Given the description of an element on the screen output the (x, y) to click on. 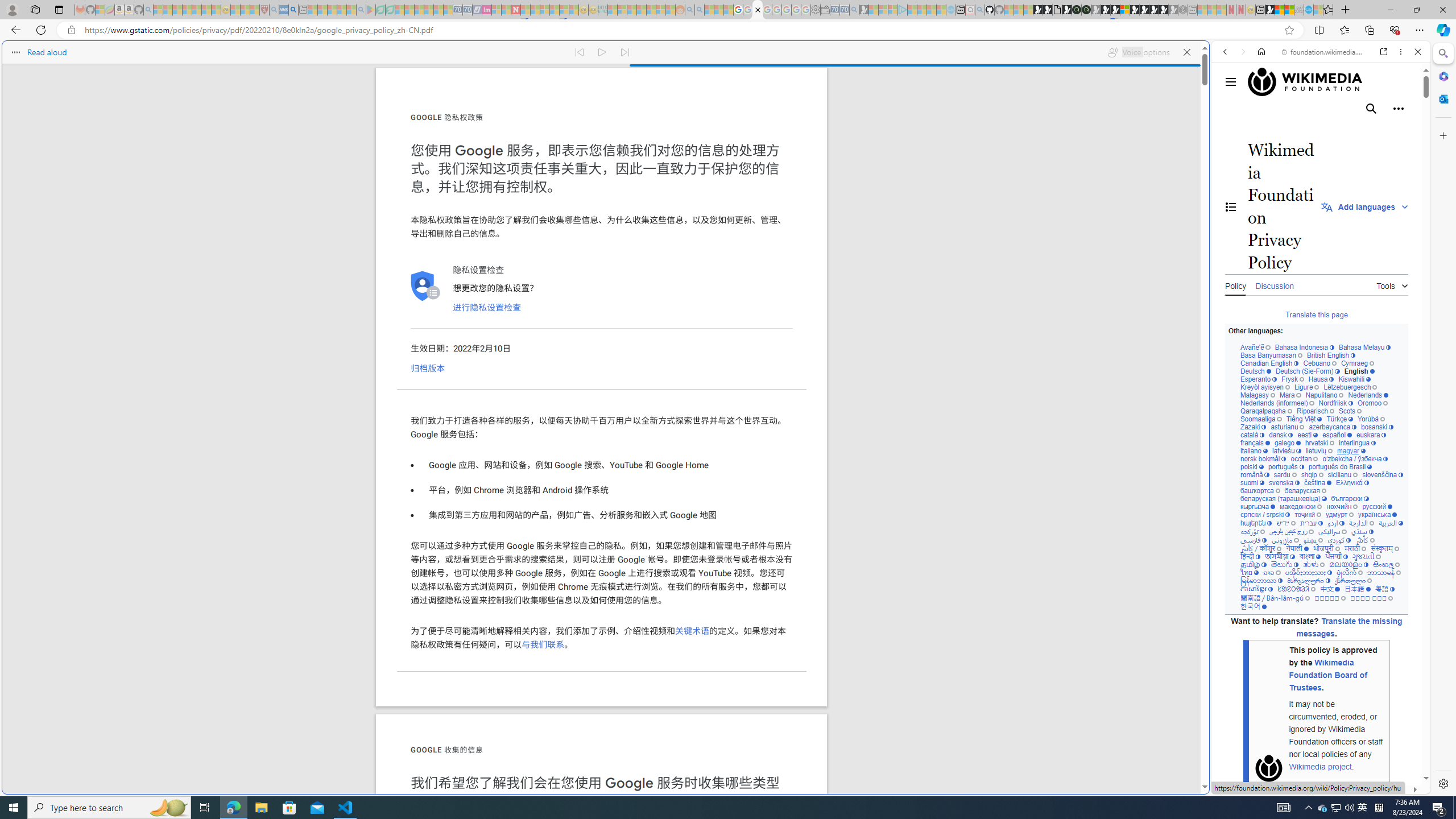
Toggle the table of contents (1230, 206)
Translate the missing messages (1348, 627)
asturianu (1287, 427)
occitan (1303, 459)
